Given the description of an element on the screen output the (x, y) to click on. 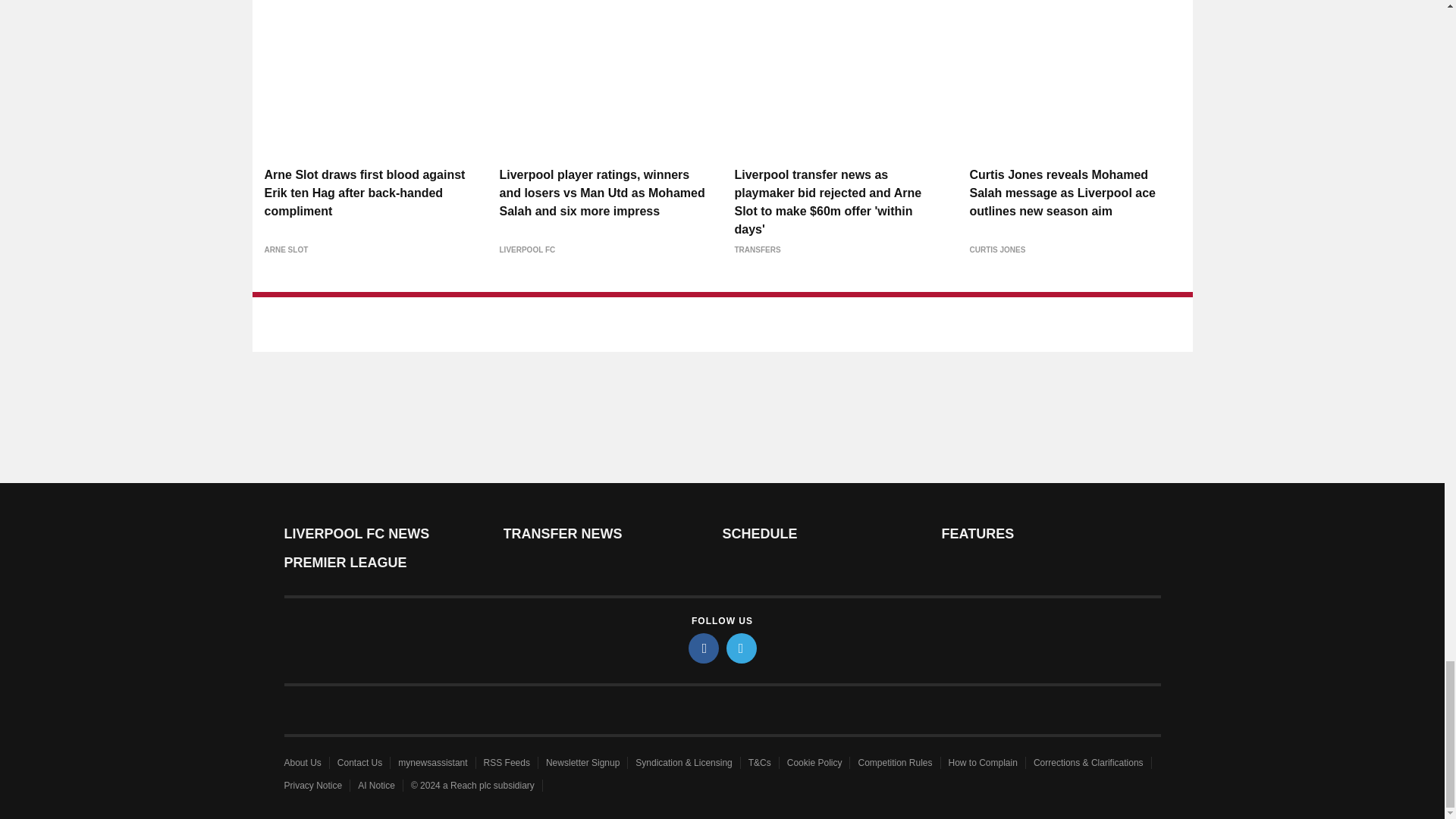
facebook (703, 648)
twitter (741, 648)
